Given the description of an element on the screen output the (x, y) to click on. 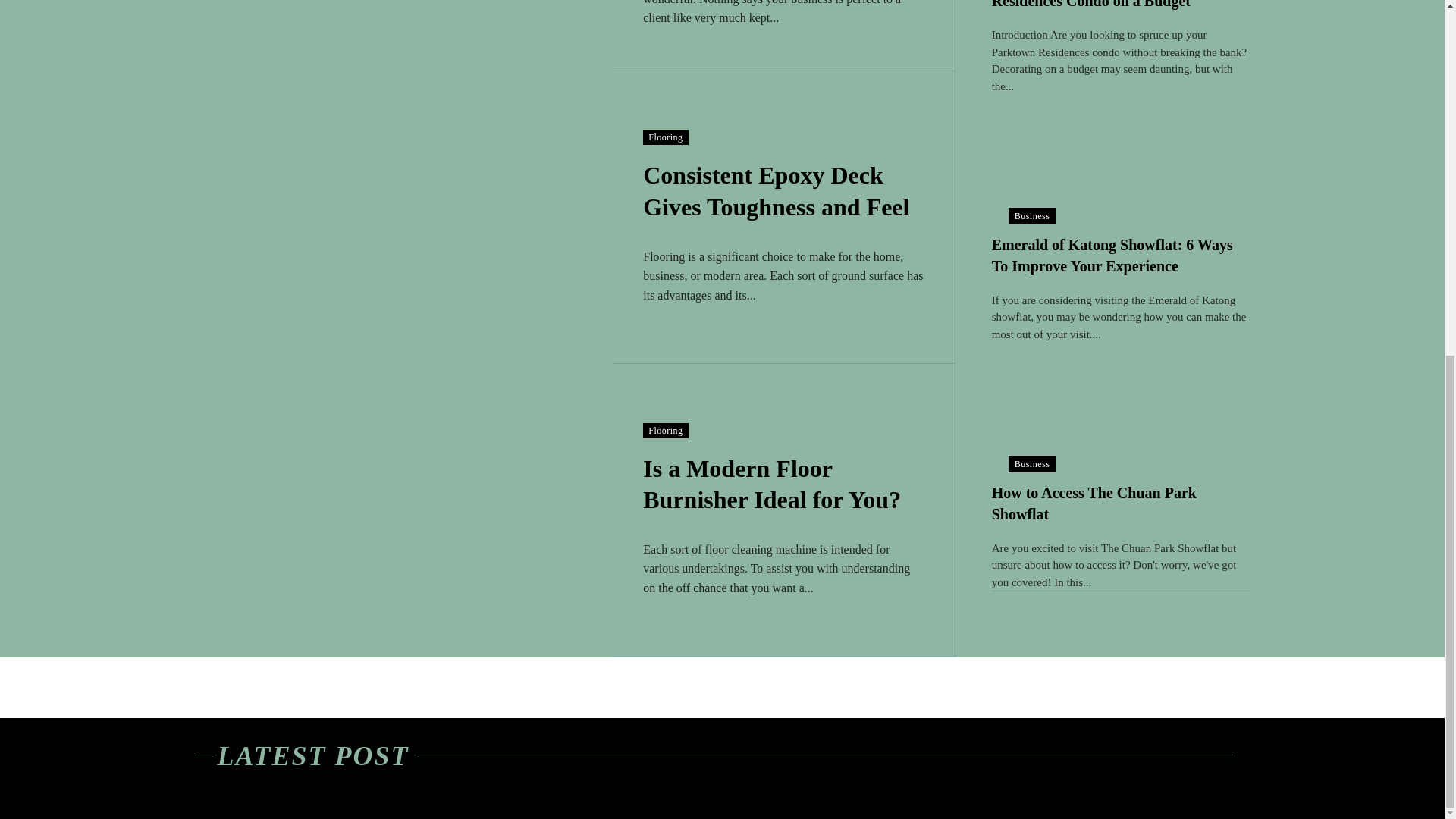
How to Access The Chuan Park Showflat (1120, 407)
Business (1033, 216)
Flooring (665, 430)
How to Access The Chuan Park Showflat (1093, 503)
Consistent Epoxy Deck Gives Toughness and Feel (402, 217)
Flooring (665, 136)
How to Decorate Your Parktown Residences Condo on a Budget (1097, 4)
Consistent Epoxy Deck Gives Toughness and Feel (775, 190)
Is a Modern Floor Burnisher Ideal for You? (772, 484)
Is a Modern Floor Burnisher Ideal for You? (402, 509)
Is a Modern Floor Burnisher Ideal for You? (772, 484)
